Given the description of an element on the screen output the (x, y) to click on. 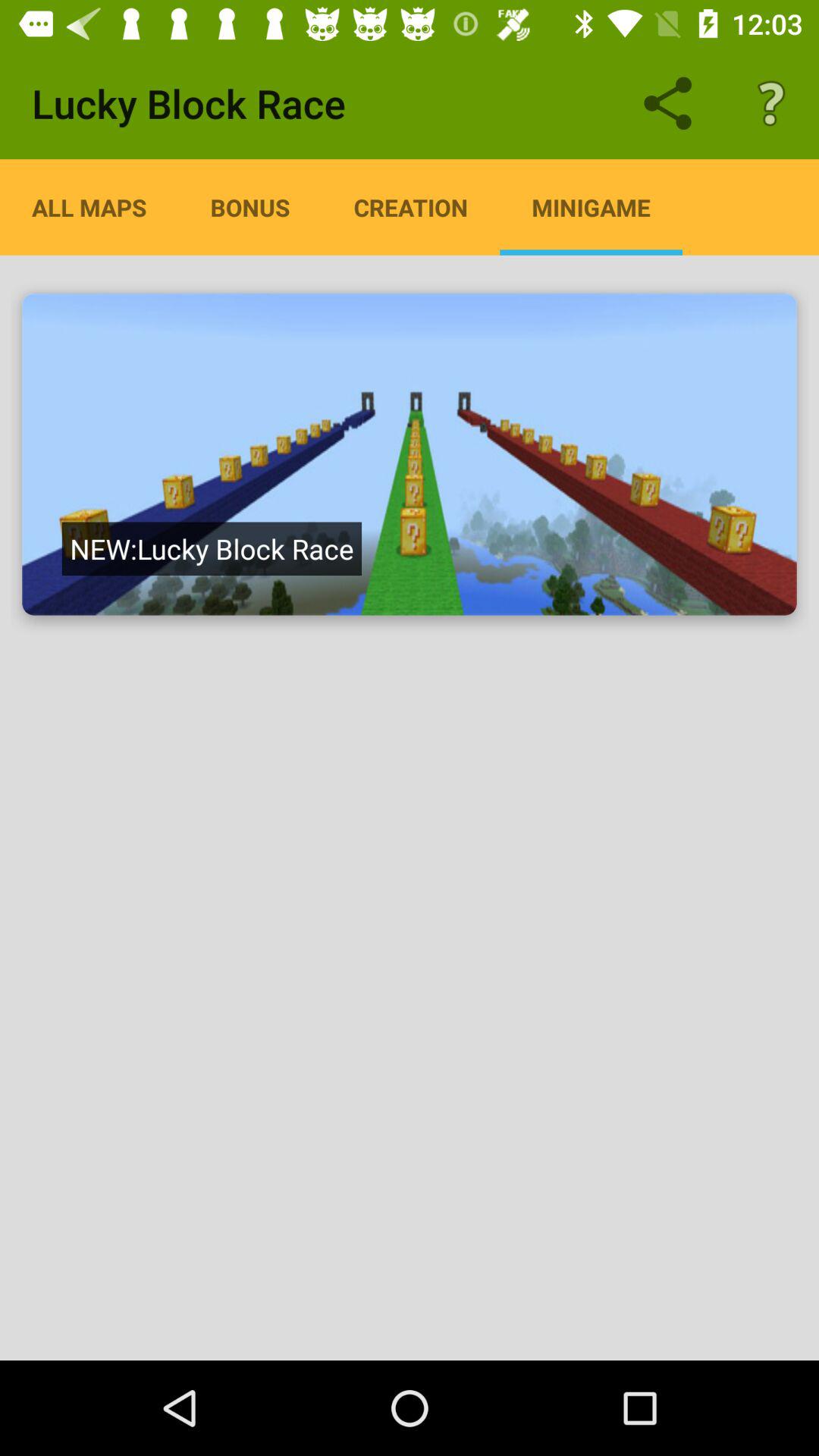
turn off the app to the right of the creation app (590, 207)
